Given the description of an element on the screen output the (x, y) to click on. 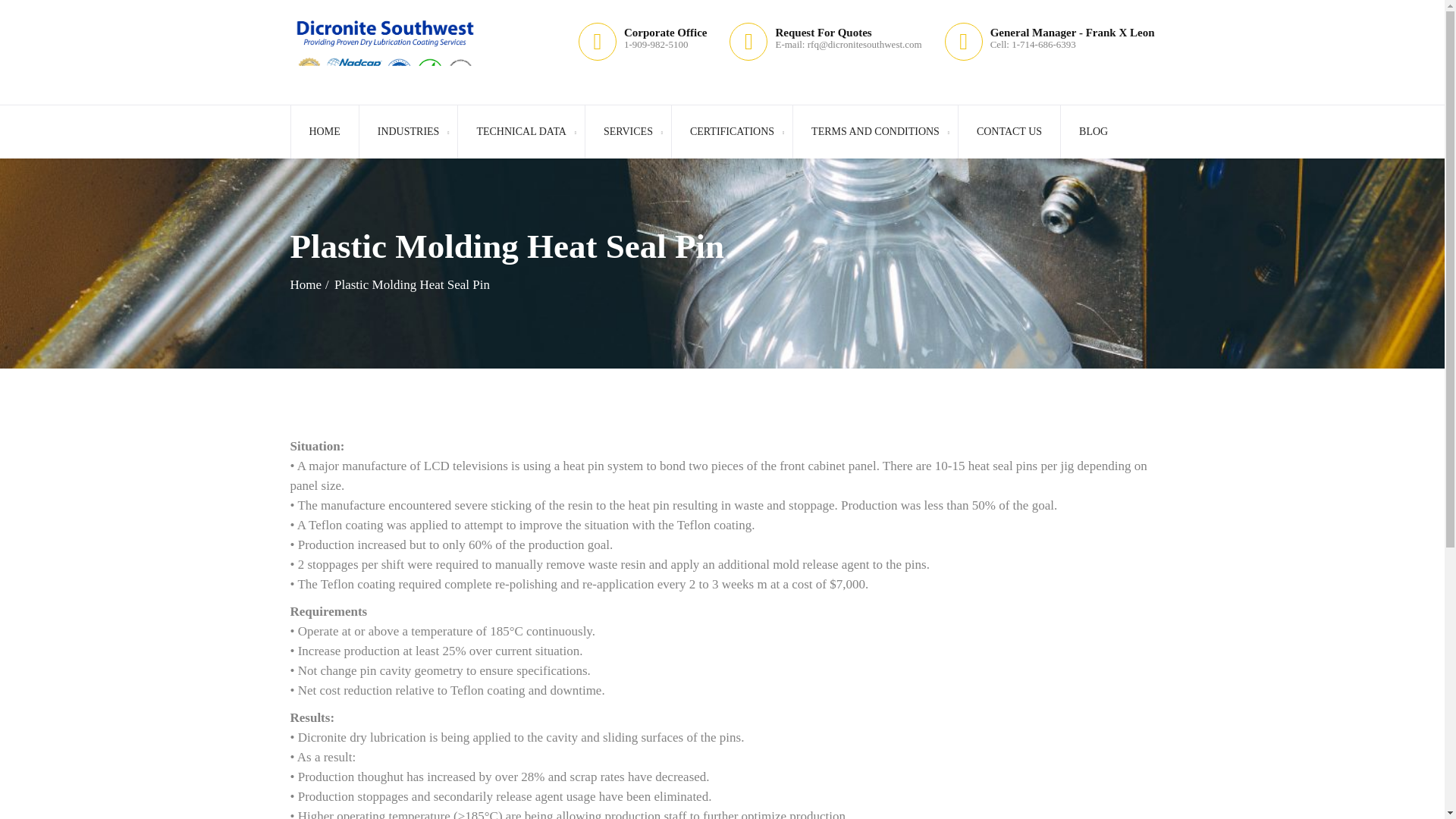
INDUSTRIES (408, 131)
HOME (323, 131)
SERVICES (628, 131)
BLOG (1092, 131)
TECHNICAL DATA (521, 131)
CERTIFICATIONS (731, 131)
CONTACT US (1008, 131)
TERMS AND CONDITIONS (875, 131)
Home (309, 284)
